Given the description of an element on the screen output the (x, y) to click on. 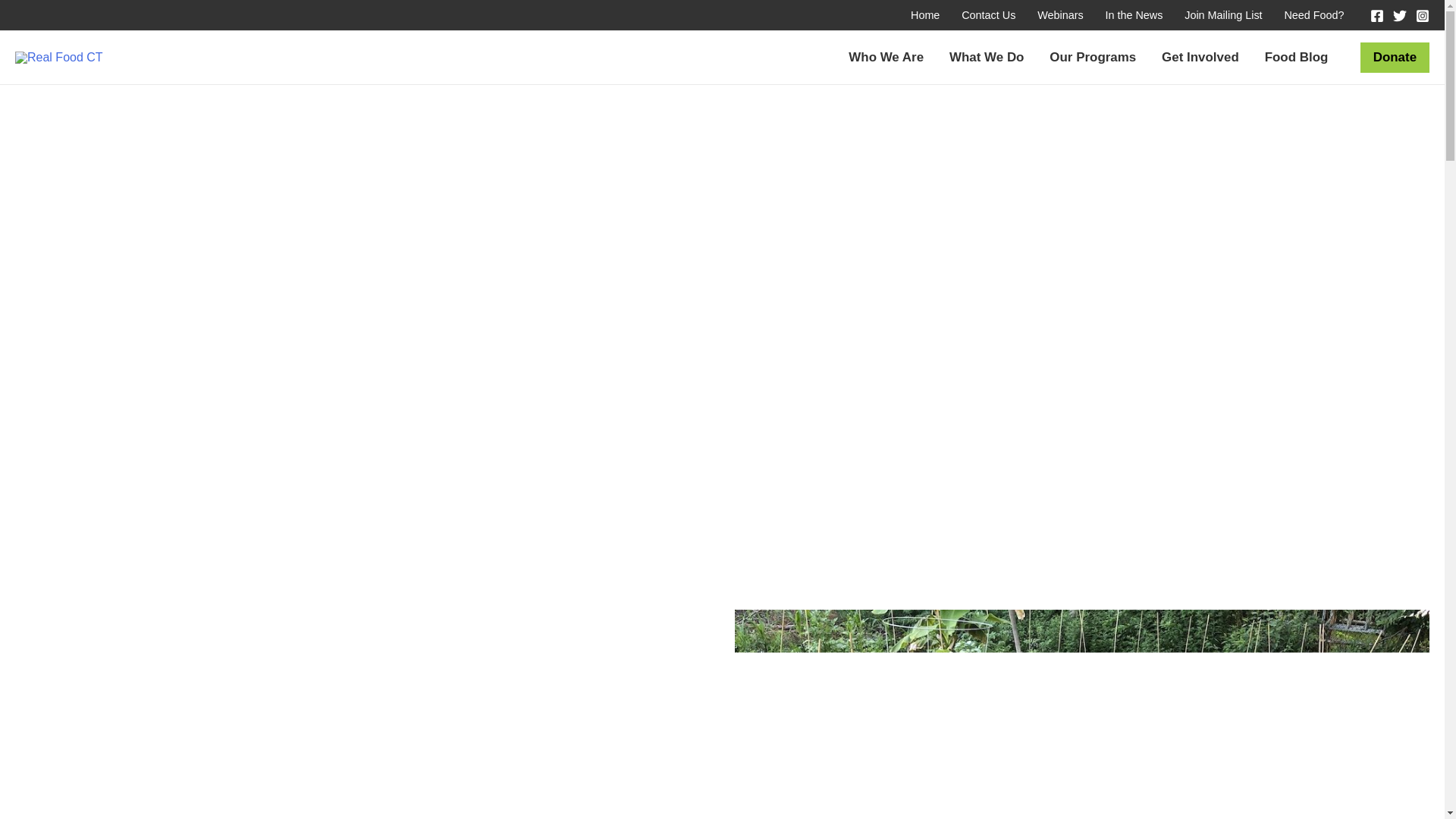
Get Involved (1200, 57)
In the News (1133, 15)
What We Do (986, 57)
Our Programs (1092, 57)
Webinars (1060, 15)
Need Food? (1313, 15)
Contact Us (988, 15)
Home (924, 15)
Who We Are (885, 57)
Join Mailing List (1222, 15)
